Given the description of an element on the screen output the (x, y) to click on. 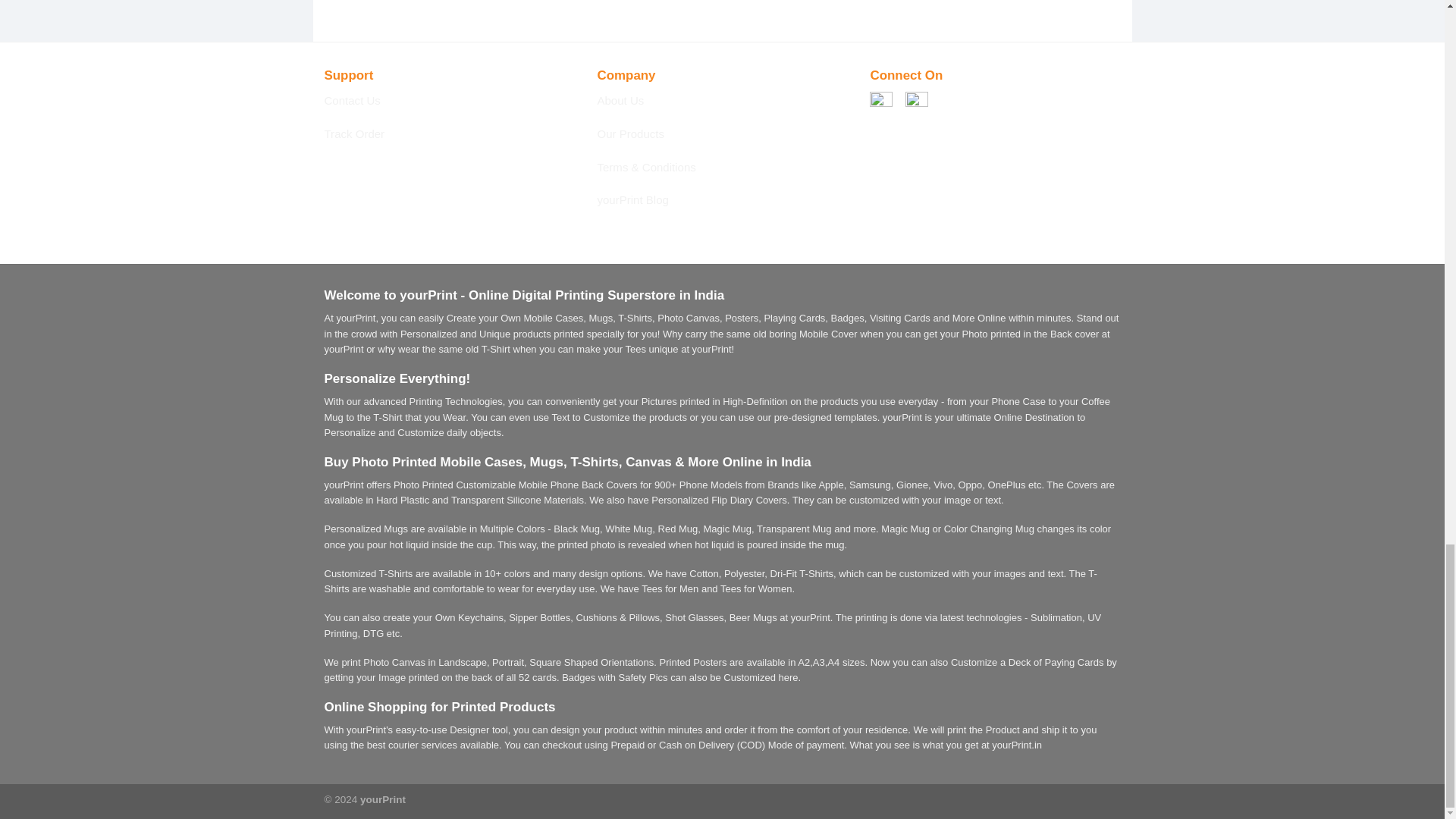
Keychains (480, 617)
Track Order (354, 133)
Samsung (869, 484)
Customized T-Shirts (368, 573)
yourPrint Blog (632, 199)
Oppo (970, 484)
Gionee (912, 484)
Apple (830, 484)
About Us (619, 100)
Contact Us (352, 100)
Vivo (942, 484)
Tees for Men (670, 588)
Printed Customizable Mobile Phone Back Covers (529, 484)
Our Products (629, 133)
Sipper Bottles (539, 617)
